Given the description of an element on the screen output the (x, y) to click on. 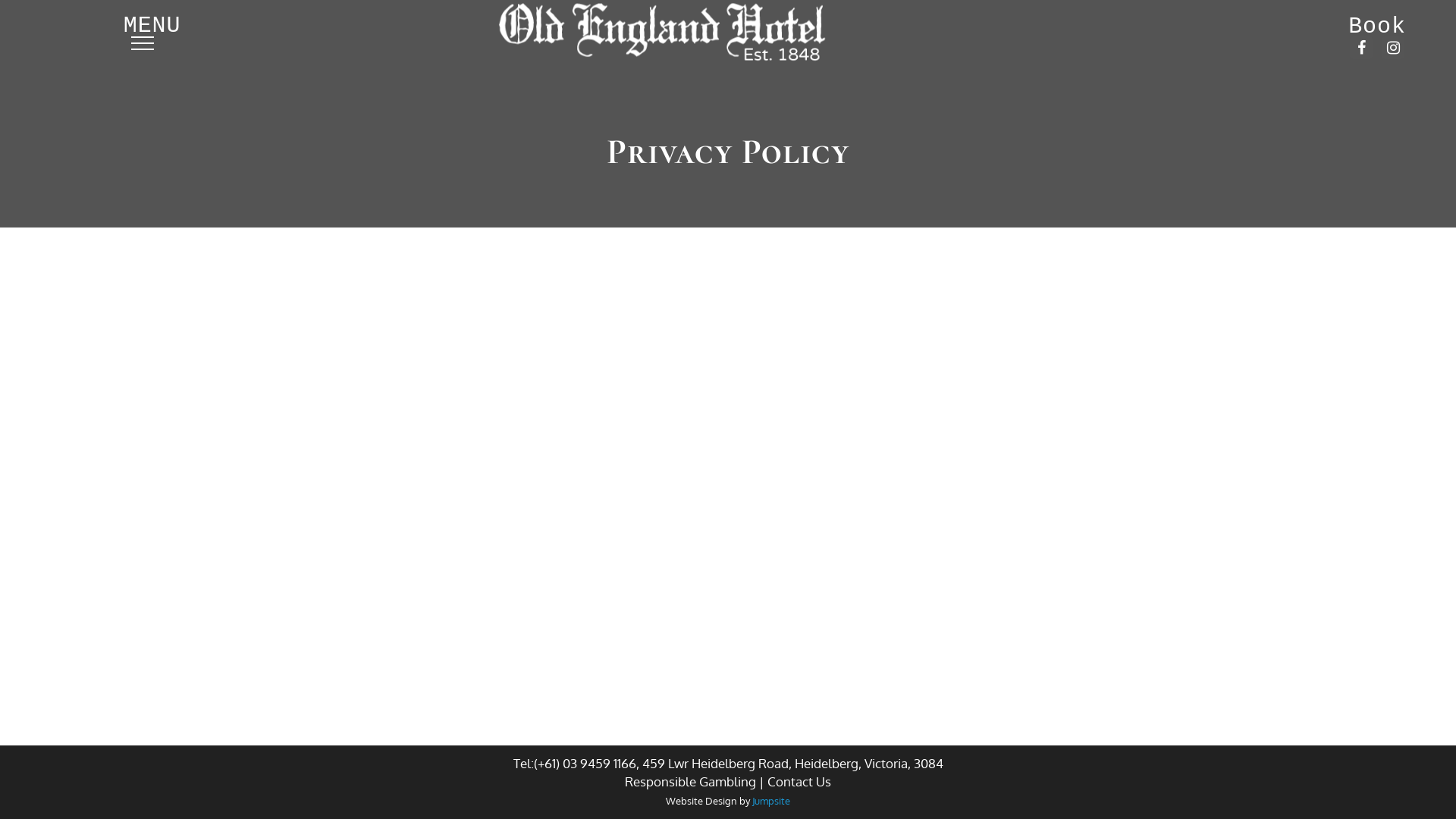
MENU Element type: text (142, 43)
Tel:(+61) 03 9459 1166 Element type: text (573, 763)
Jumpsite Element type: text (771, 799)
Contact Us Element type: text (799, 781)
459 Lwr Heidelberg Road, Heidelberg, Victoria, 3084 Element type: text (791, 763)
Responsible Gambling | Element type: text (695, 781)
Book Element type: text (1376, 26)
